Given the description of an element on the screen output the (x, y) to click on. 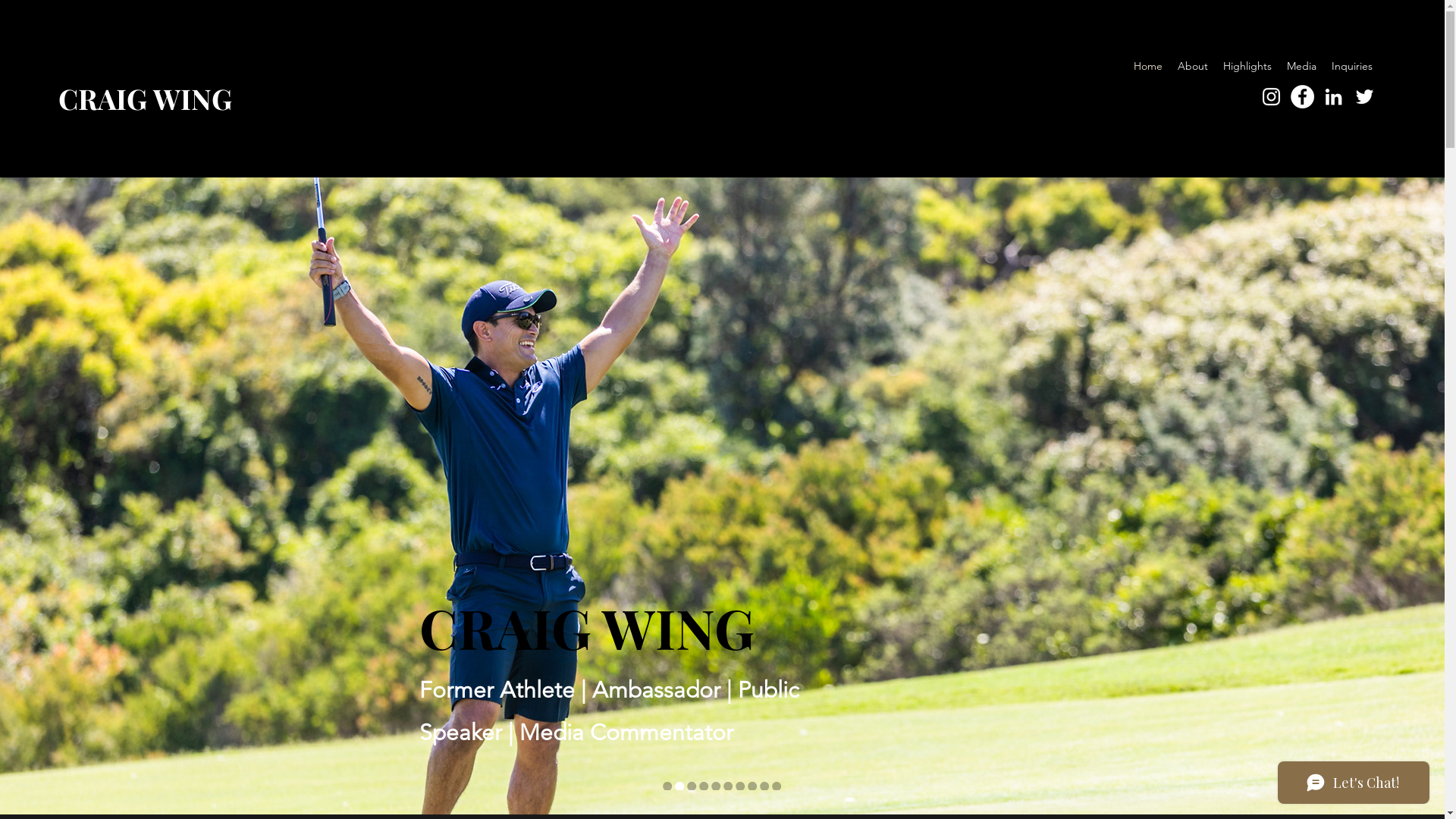
About Element type: text (1192, 66)
Highlights Element type: text (1247, 66)
Home Element type: text (1148, 66)
Media Element type: text (1301, 66)
Inquiries Element type: text (1352, 66)
